Given the description of an element on the screen output the (x, y) to click on. 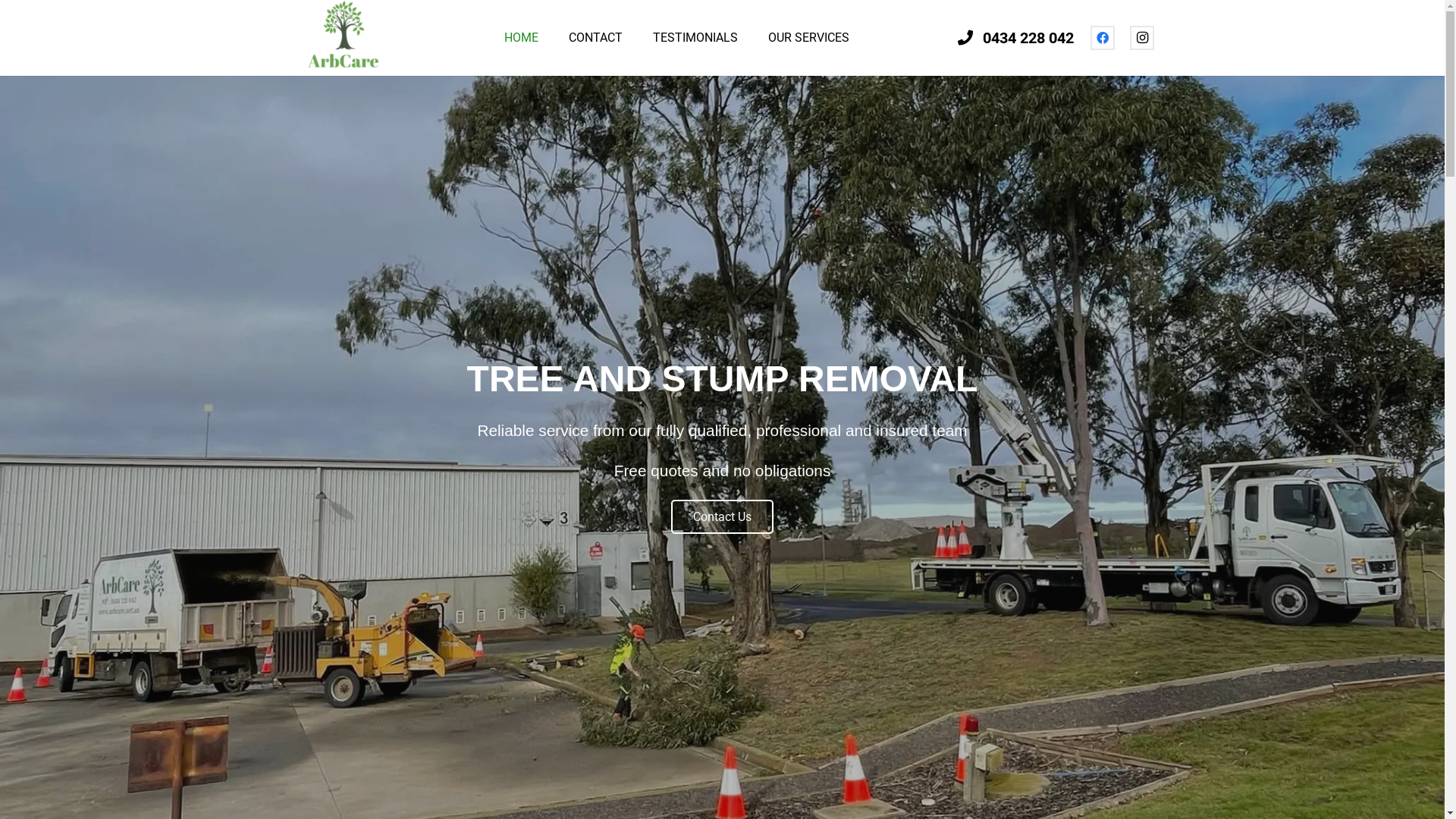
0434 228 042 Element type: text (1015, 37)
CONTACT Element type: text (595, 37)
Contact Us Element type: text (722, 516)
Instagram Element type: hover (1141, 37)
Facebook Element type: hover (1102, 37)
OUR SERVICES Element type: text (808, 37)
TESTIMONIALS Element type: text (695, 37)
HOME Element type: text (521, 37)
